Given the description of an element on the screen output the (x, y) to click on. 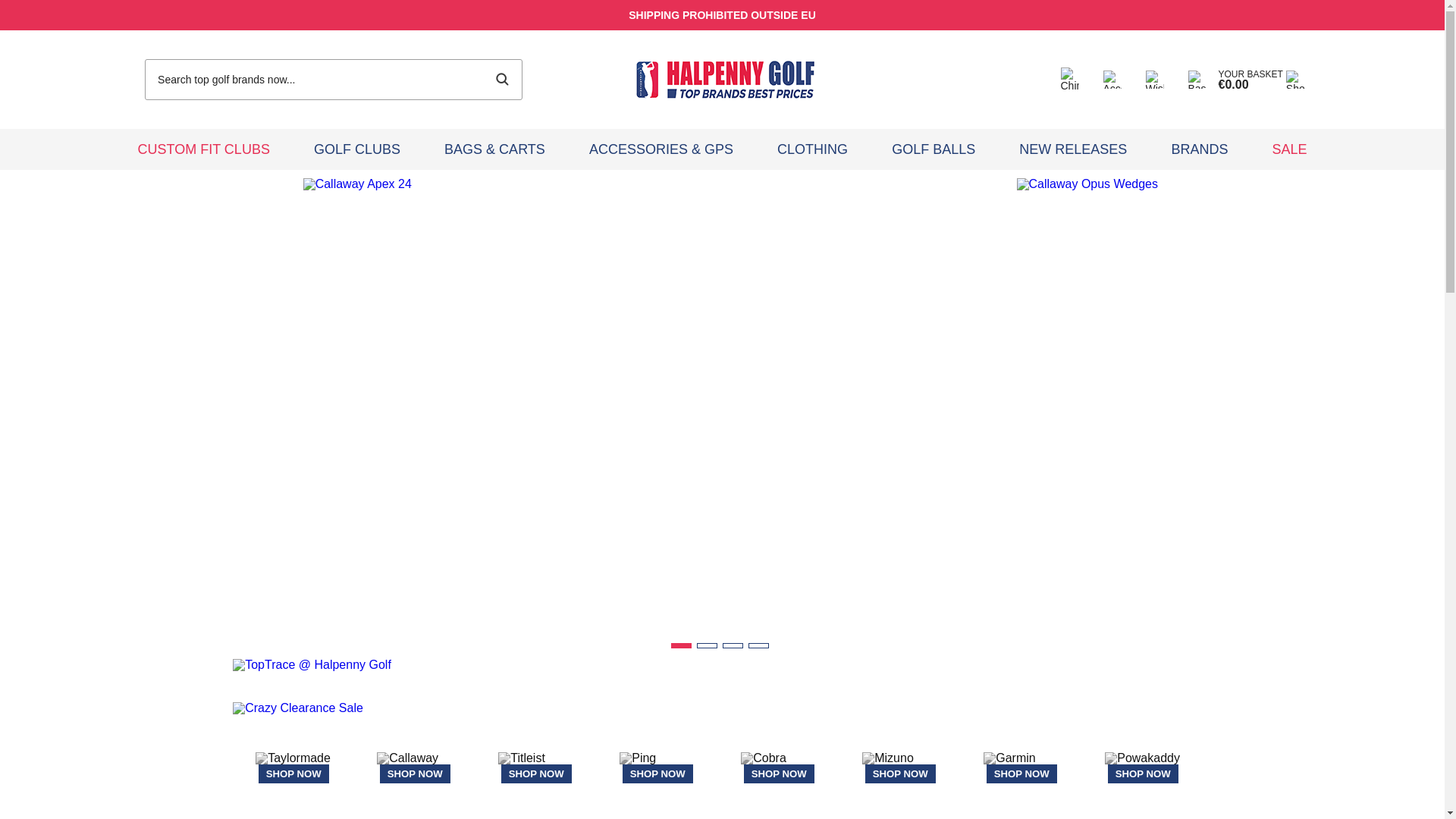
CUSTOM FIT CLUBS (204, 148)
View All Clubs (357, 148)
View Golf Clothing (812, 148)
CLUBS (357, 148)
View All Custom Fit Golf Clubs (204, 148)
Account login (1111, 79)
Wishlist (1153, 79)
